Given the description of an element on the screen output the (x, y) to click on. 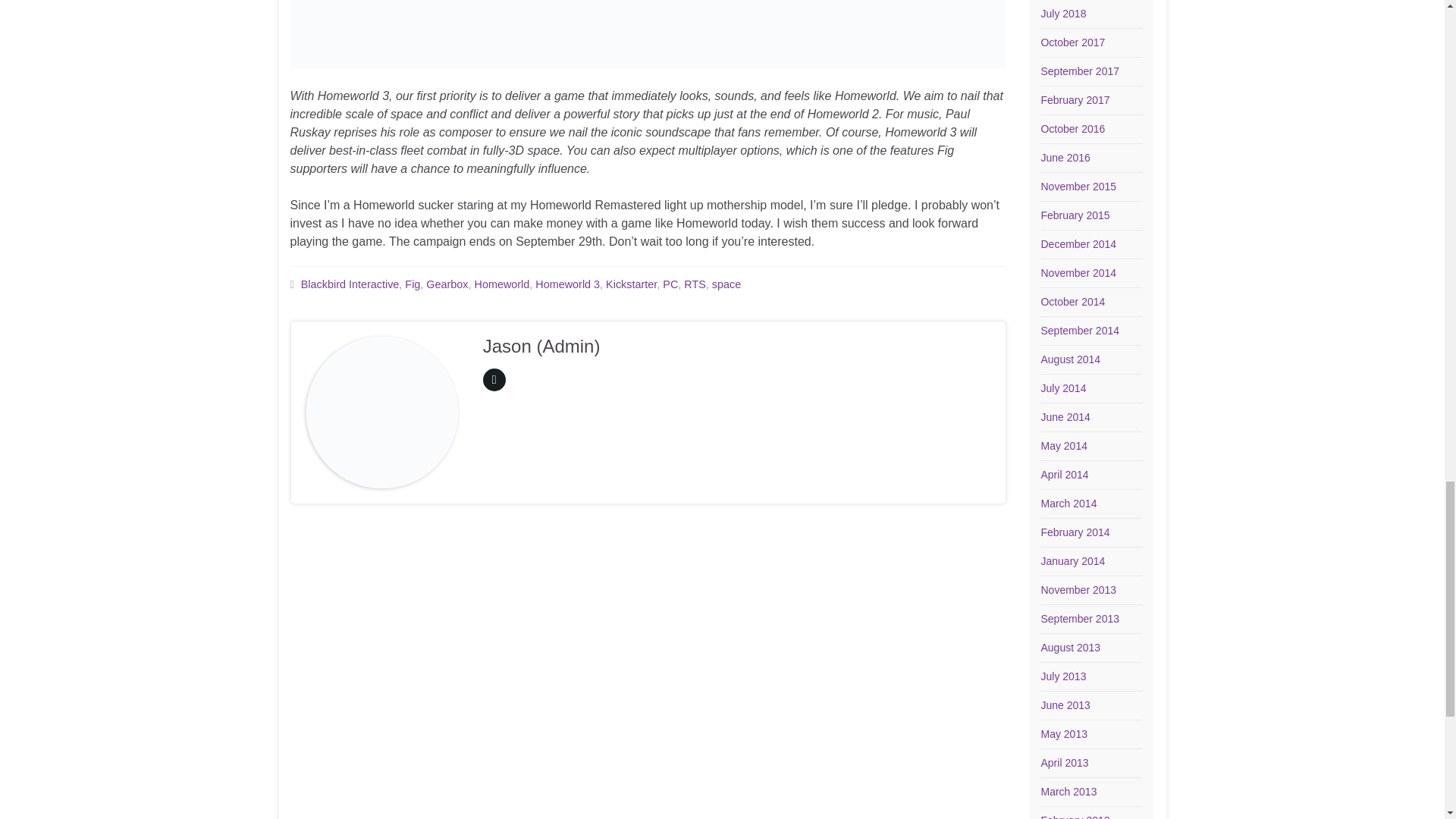
Homeworld (501, 284)
Gearbox (446, 284)
space (726, 284)
RTS (695, 284)
Fig (412, 284)
Kickstarter (630, 284)
Blackbird Interactive (349, 284)
PC (670, 284)
Homeworld 3 (567, 284)
